Given the description of an element on the screen output the (x, y) to click on. 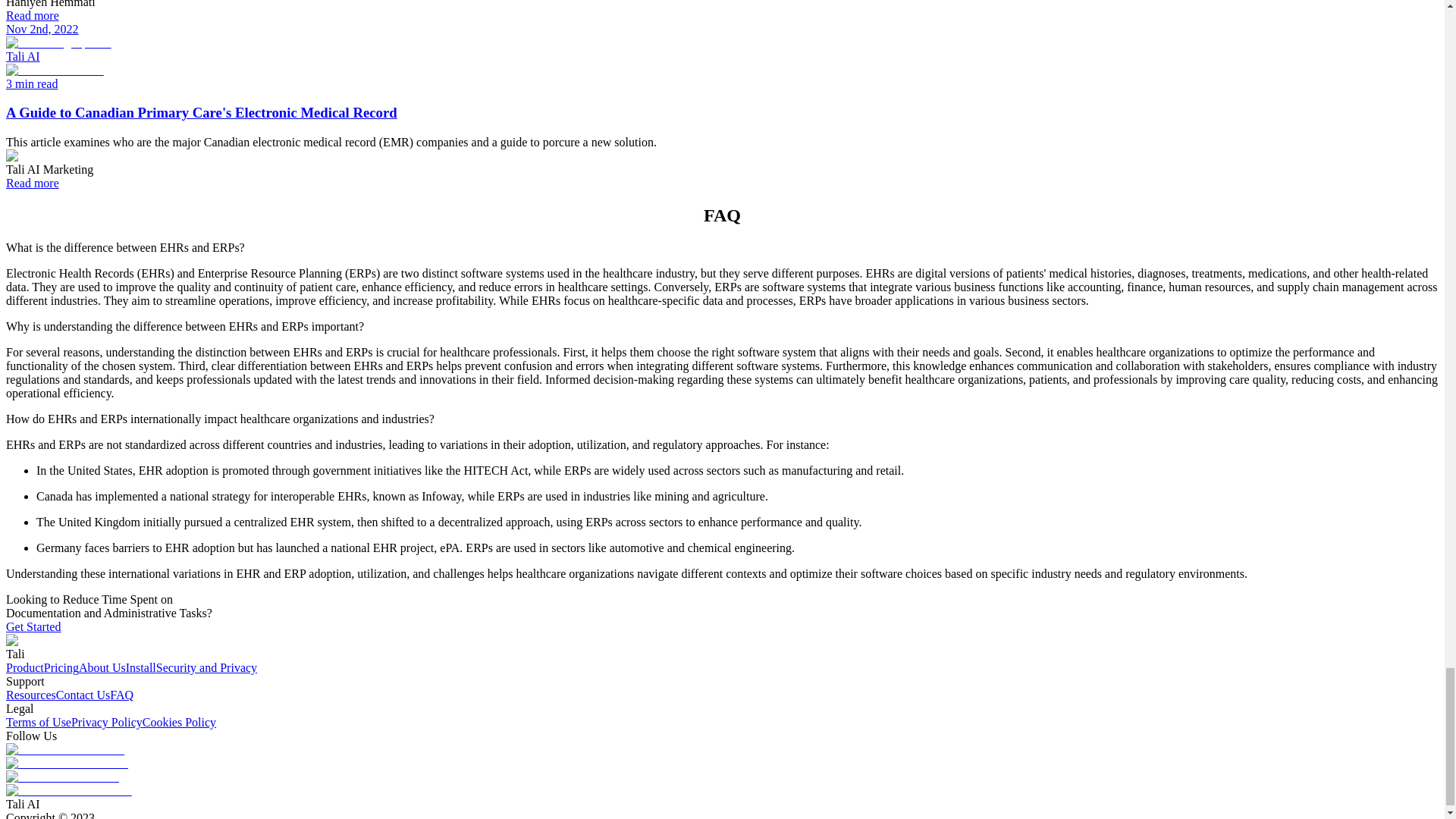
About Us (101, 667)
Resources (30, 694)
Security and Privacy (206, 667)
Pricing (60, 667)
Cookies Policy (178, 721)
Terms of Use (38, 721)
Contact Us (83, 694)
Read more (32, 15)
Product (24, 667)
FAQ (121, 694)
